Given the description of an element on the screen output the (x, y) to click on. 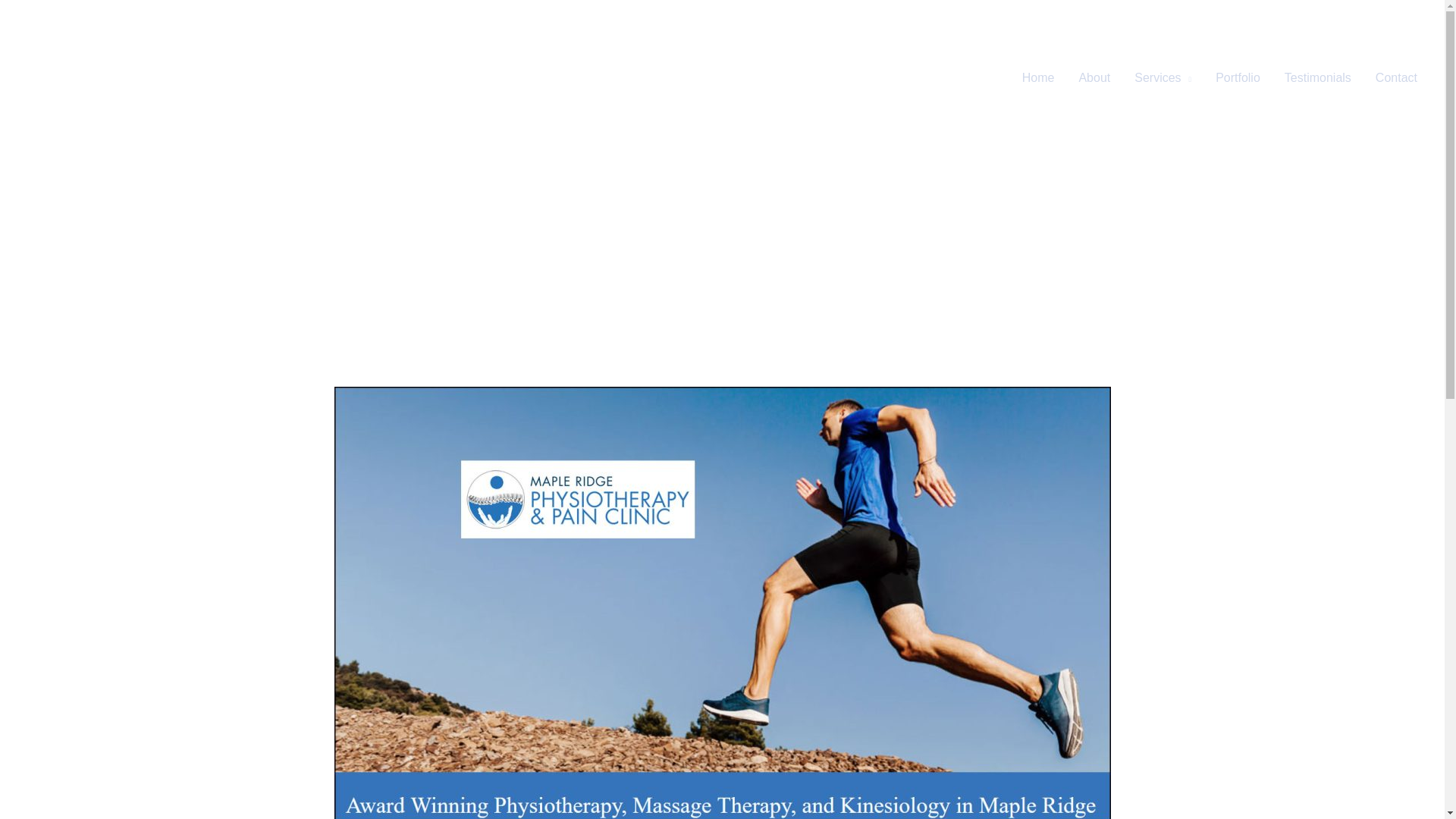
Contact (1395, 77)
About (1093, 77)
Portfolio (1238, 77)
Services (1163, 77)
Testimonials (1317, 77)
Home (1038, 77)
